Given the description of an element on the screen output the (x, y) to click on. 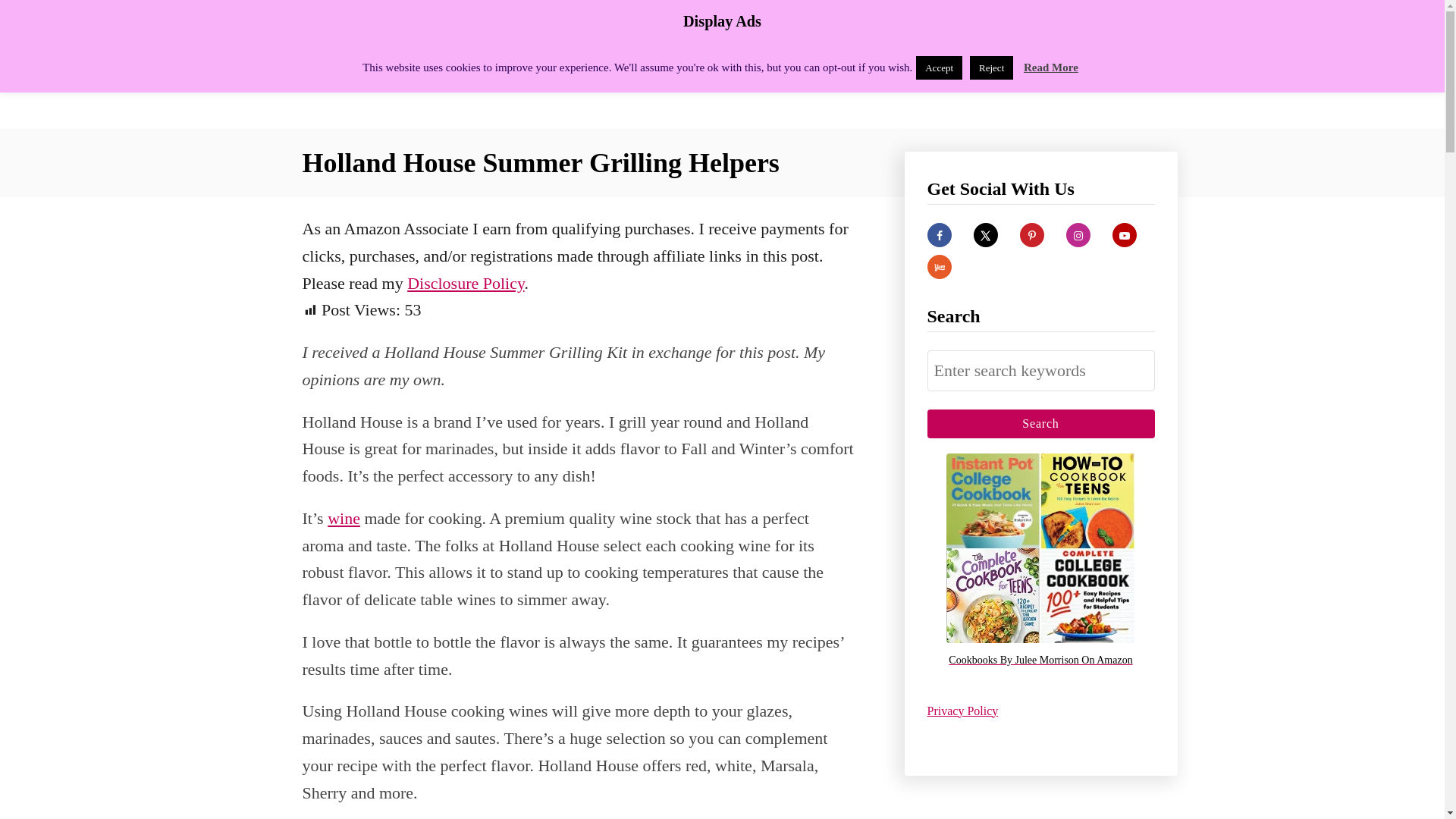
wine (343, 517)
Follow on Yummly (938, 266)
Search (1040, 423)
Disclosure Policy (465, 281)
Search (1040, 423)
Accept (938, 67)
Follow on Pinterest (1031, 234)
Read More (1050, 67)
Search (1040, 423)
Mommy's Memorandum (433, 64)
